Given the description of an element on the screen output the (x, y) to click on. 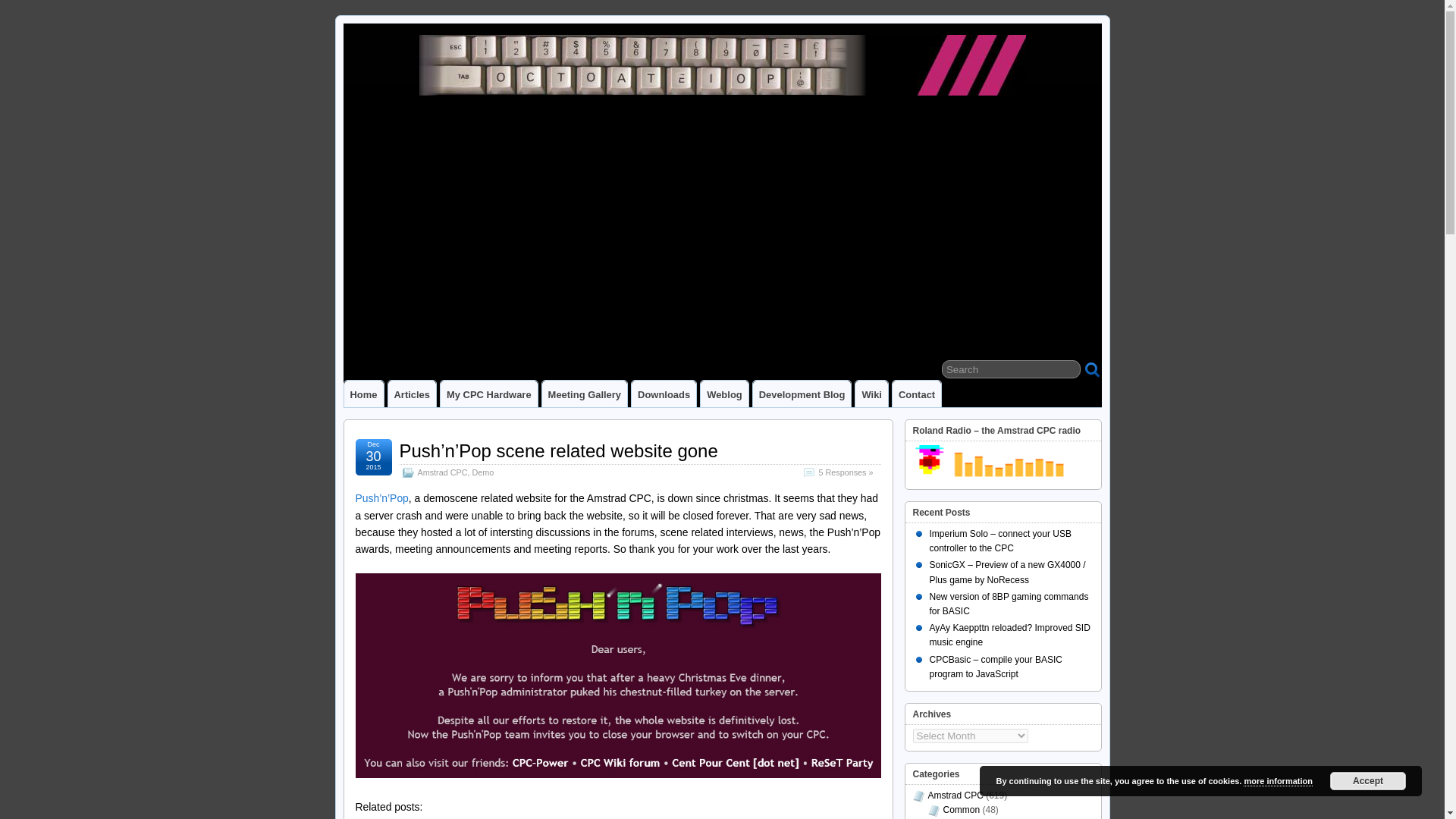
Downloads (663, 393)
Home (363, 393)
Contact (916, 393)
Demo (482, 471)
Meeting Gallery (584, 393)
Search (1011, 369)
Wiki (872, 393)
Search (1011, 369)
My CPC Hardware (489, 393)
Development Blog (801, 393)
